Given the description of an element on the screen output the (x, y) to click on. 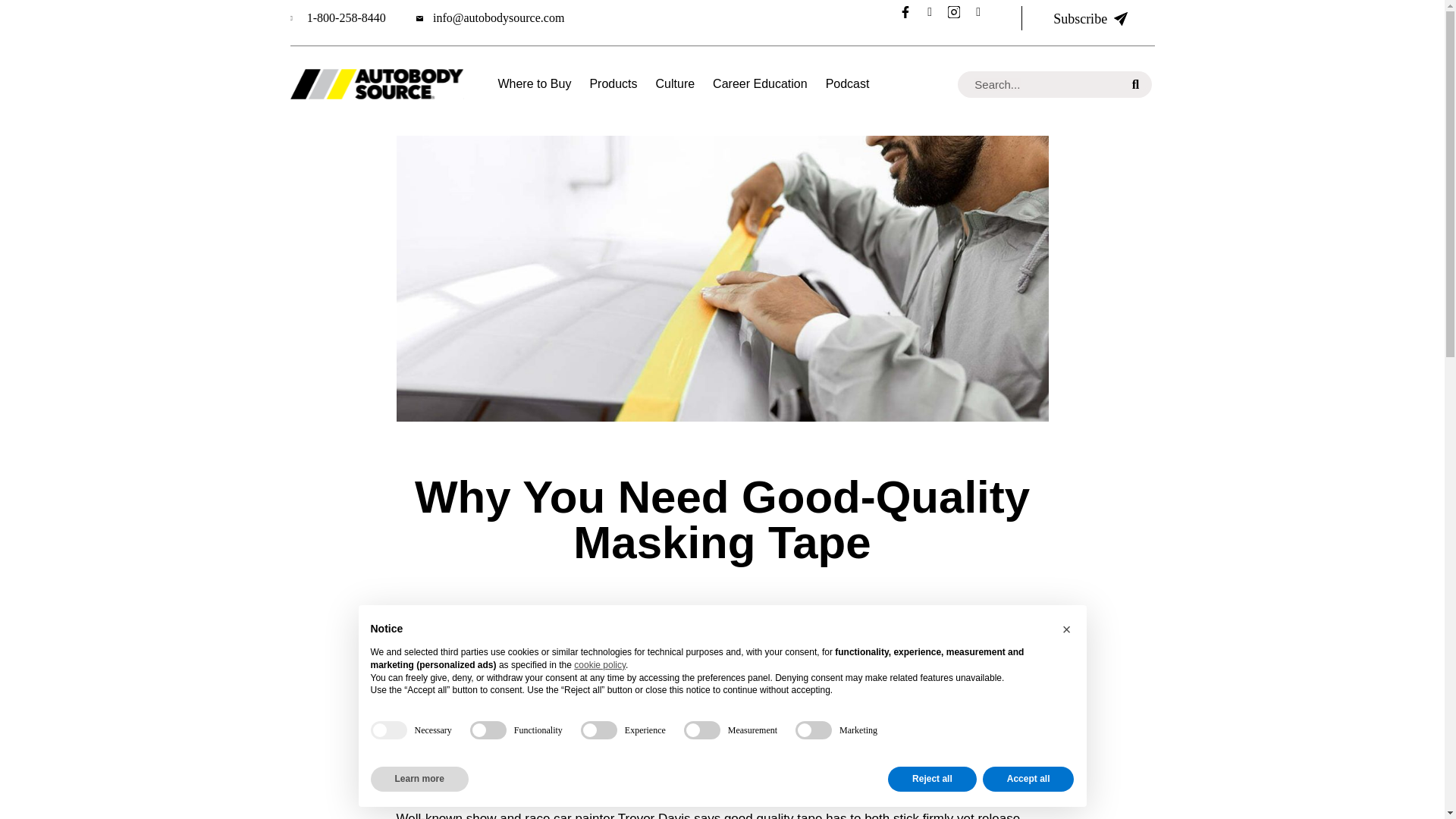
February 10, 2021 (684, 610)
Tiktok (983, 17)
false (598, 730)
Podcast (847, 83)
Career Education (760, 83)
Search (1135, 83)
Youtube (935, 17)
Buzz (788, 610)
Learn more (418, 778)
true (387, 730)
Where to Buy (533, 83)
Reject all (932, 778)
false (702, 730)
1-800-258-8440 (337, 17)
Culture (675, 83)
